Given the description of an element on the screen output the (x, y) to click on. 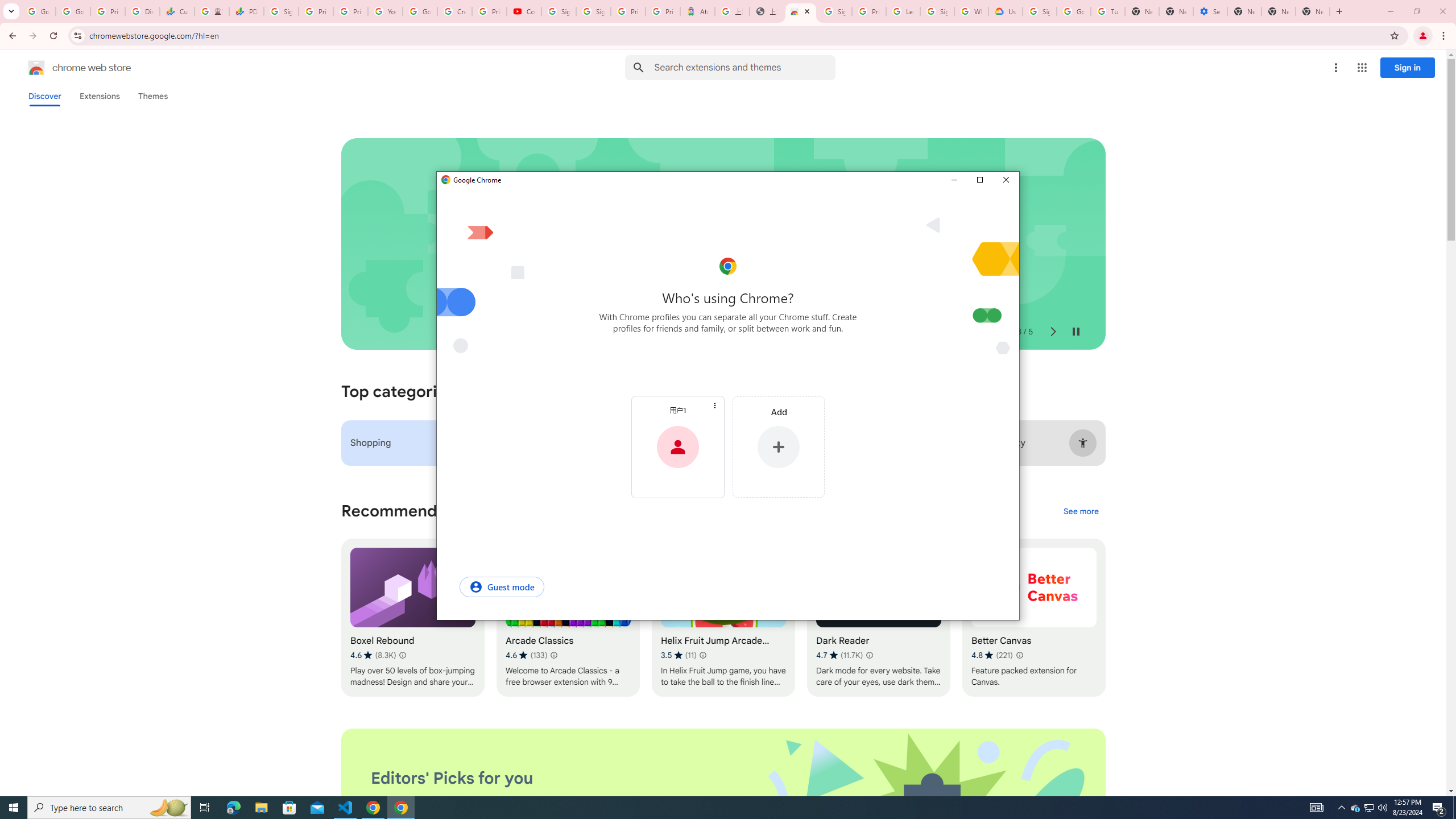
Sign in - Google Accounts (834, 11)
Chrome Web Store logo chrome web store (67, 67)
Chrome Web Store (800, 11)
Sign in - Google Accounts (1039, 11)
New Tab (1312, 11)
Google Workspace Admin Community (38, 11)
Learn more about results and reviews "Arcade Classics" (553, 655)
Learn more about results and reviews "Boxel Rebound" (402, 655)
Atour Hotel - Google hotels (697, 11)
Rename your profile (677, 409)
